Given the description of an element on the screen output the (x, y) to click on. 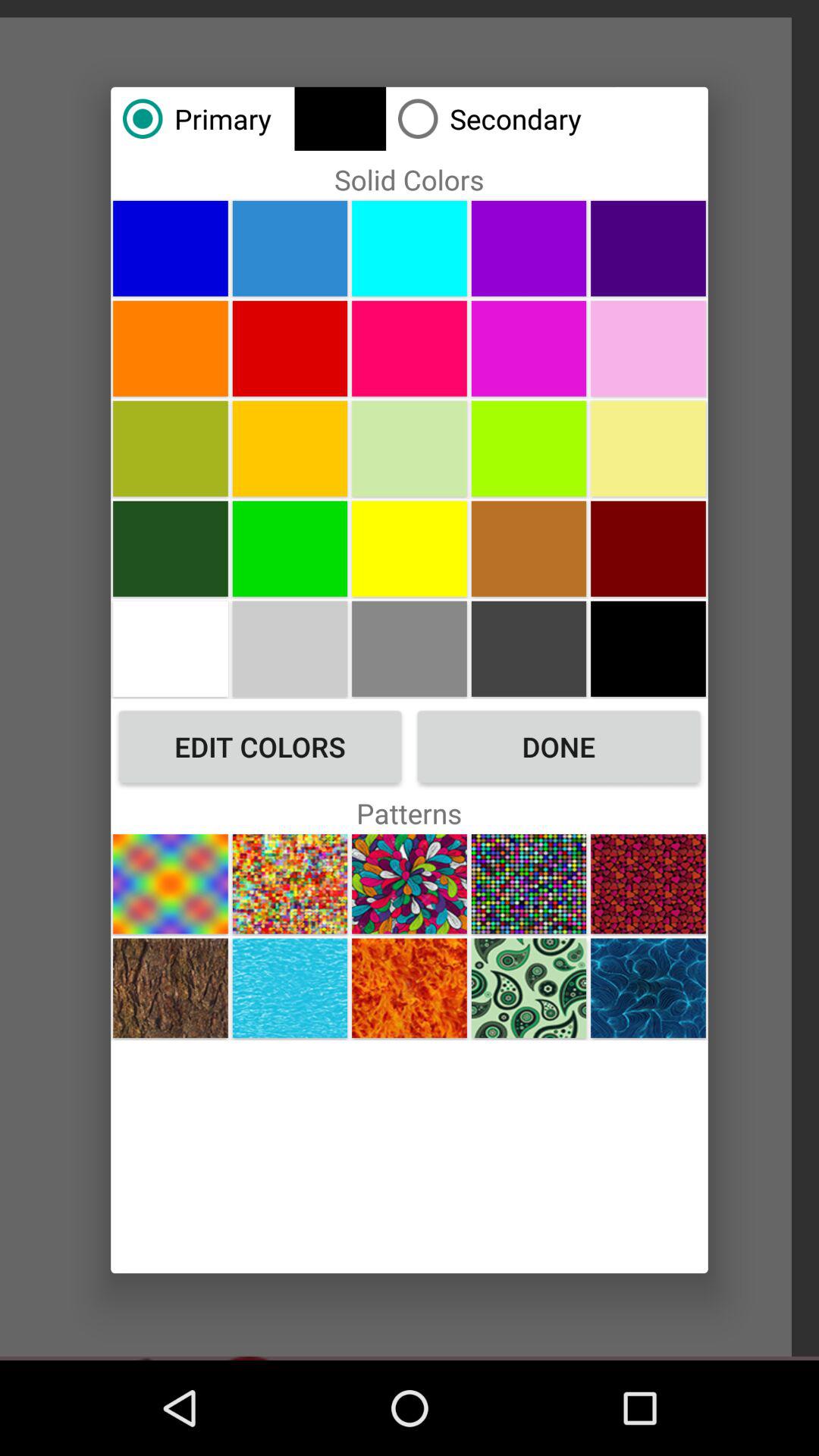
go to picture (528, 248)
